Given the description of an element on the screen output the (x, y) to click on. 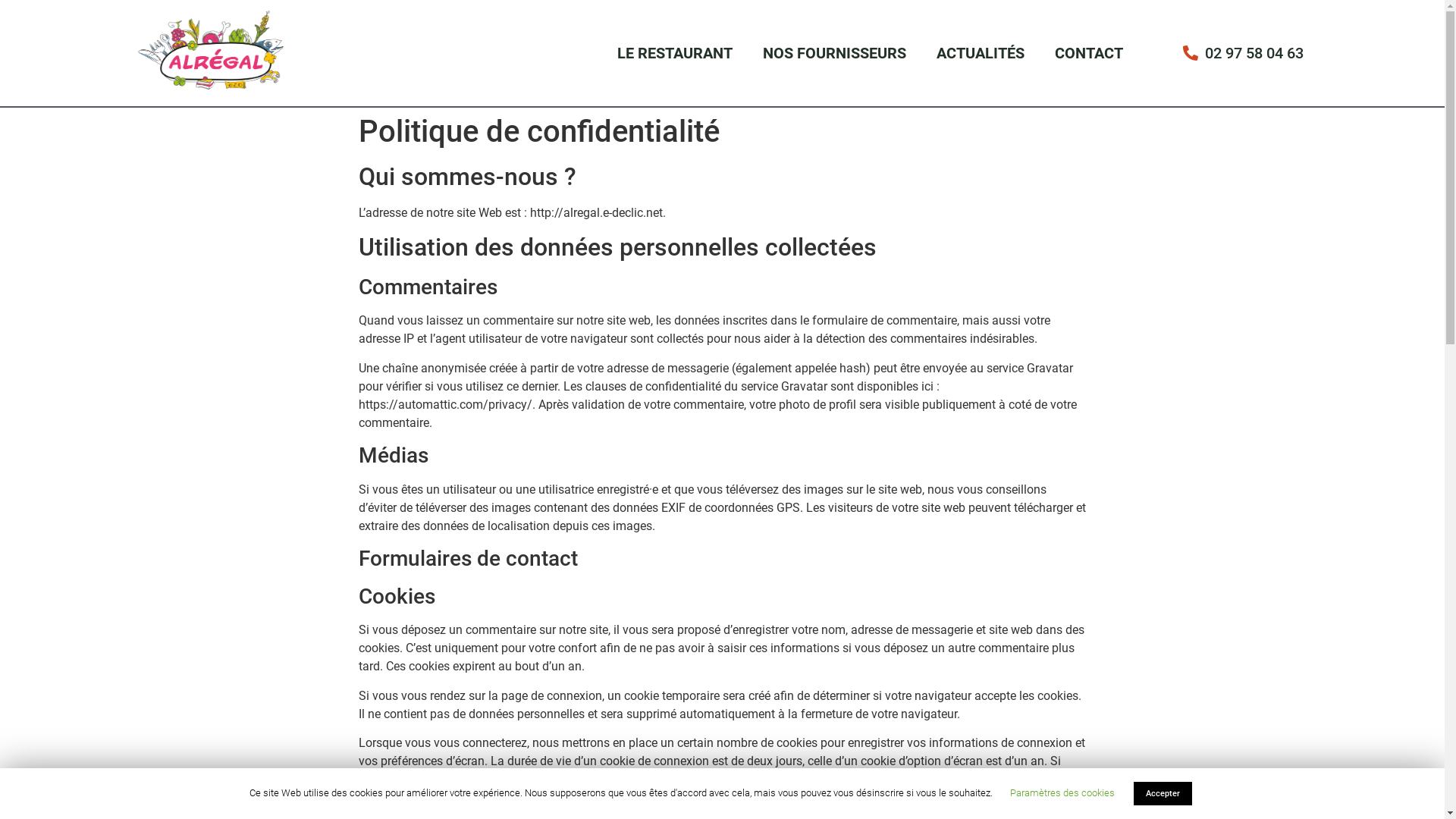
CONTACT Element type: text (1088, 52)
NOS FOURNISSEURS Element type: text (834, 52)
Accepter Element type: text (1161, 793)
LE RESTAURANT Element type: text (674, 52)
02 97 58 04 63 Element type: text (1228, 52)
